Given the description of an element on the screen output the (x, y) to click on. 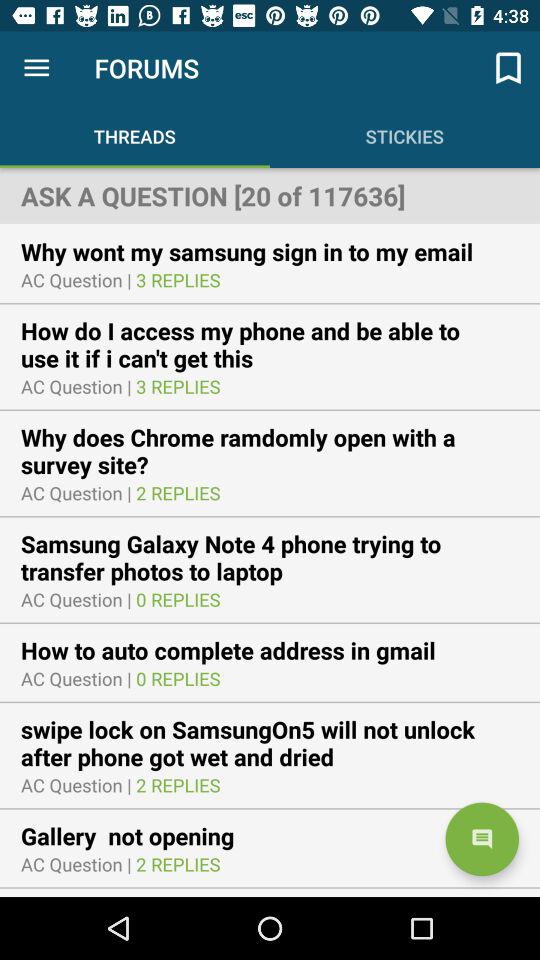
turn off the icon above ac question |  item (260, 251)
